Given the description of an element on the screen output the (x, y) to click on. 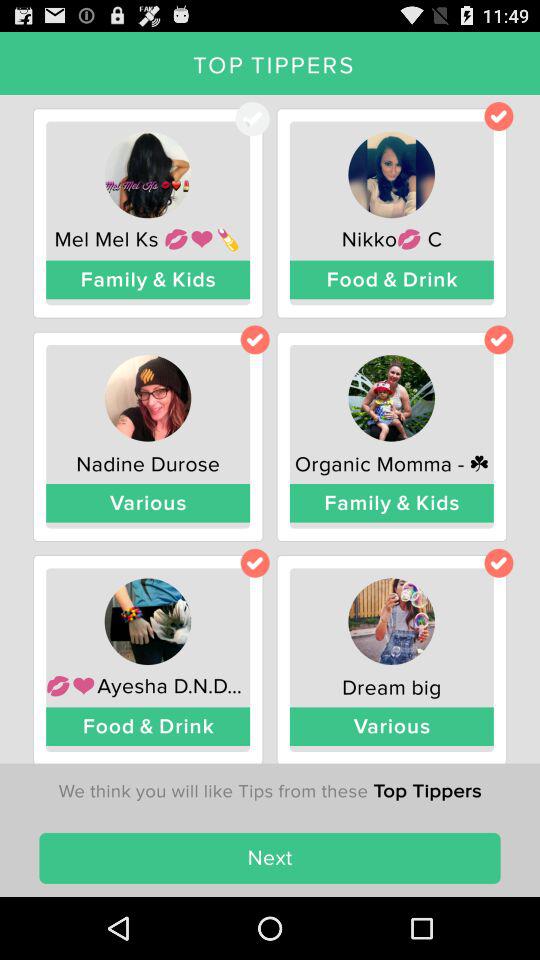
press item below the we think you icon (269, 857)
